Given the description of an element on the screen output the (x, y) to click on. 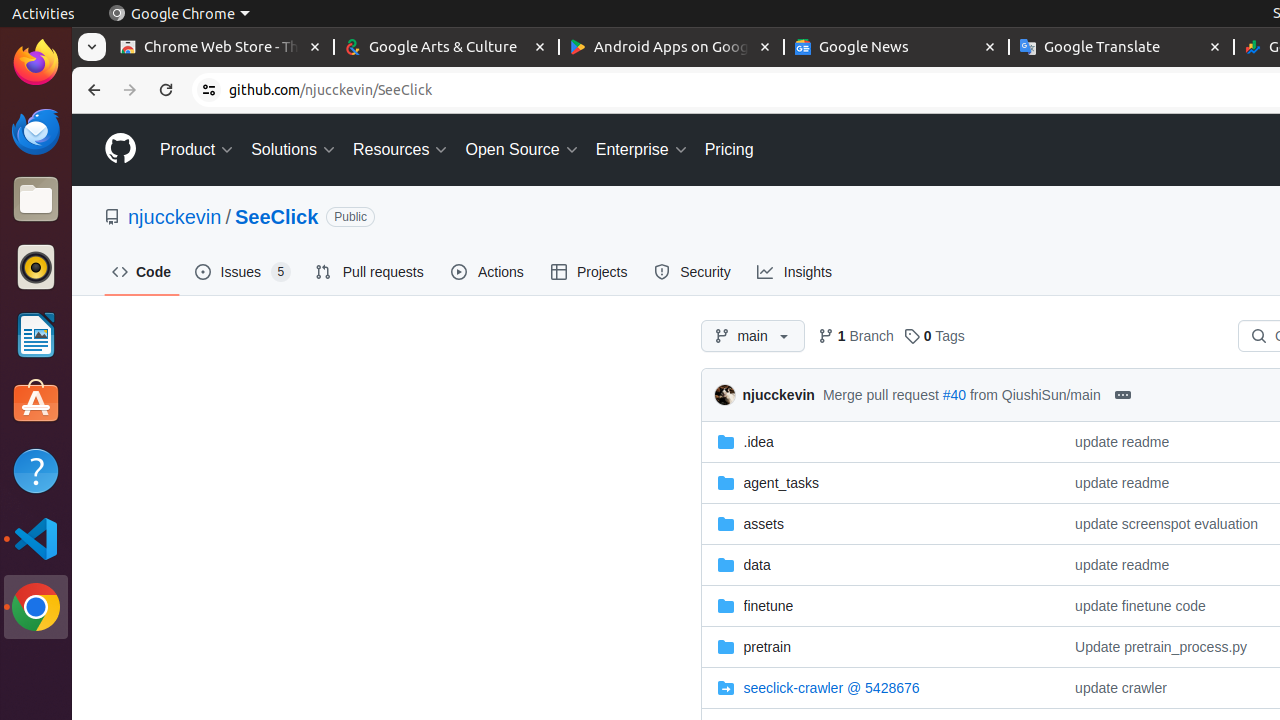
Google News - Memory usage - 48.8 MB Element type: page-tab (896, 47)
Visual Studio Code Element type: push-button (36, 538)
main branch Element type: push-button (752, 336)
SeeClick Element type: link (276, 217)
assets, (Directory) Element type: link (763, 523)
